Given the description of an element on the screen output the (x, y) to click on. 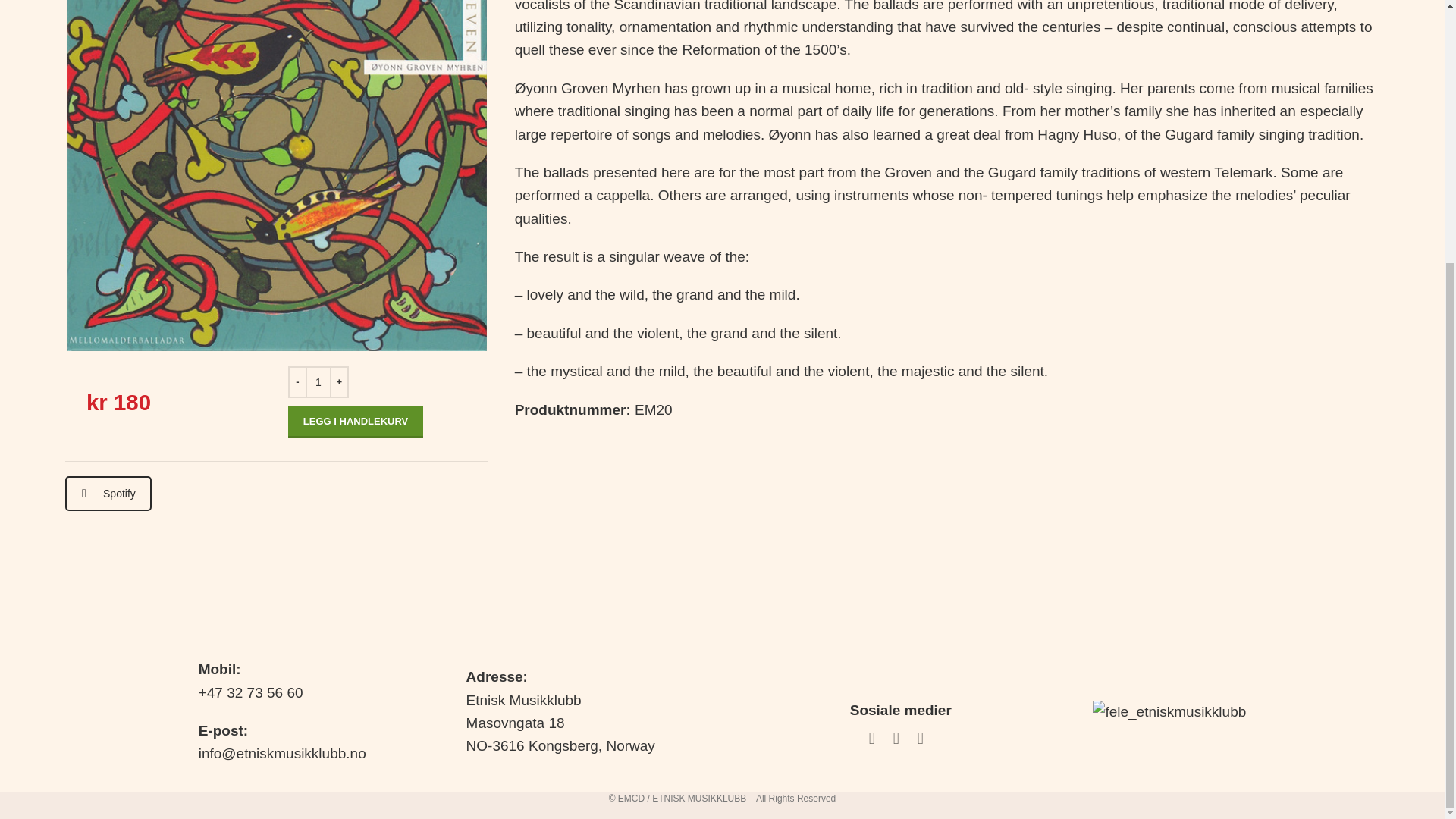
Spotify (108, 493)
LEGG I HANDLEKURV (355, 421)
